Given the description of an element on the screen output the (x, y) to click on. 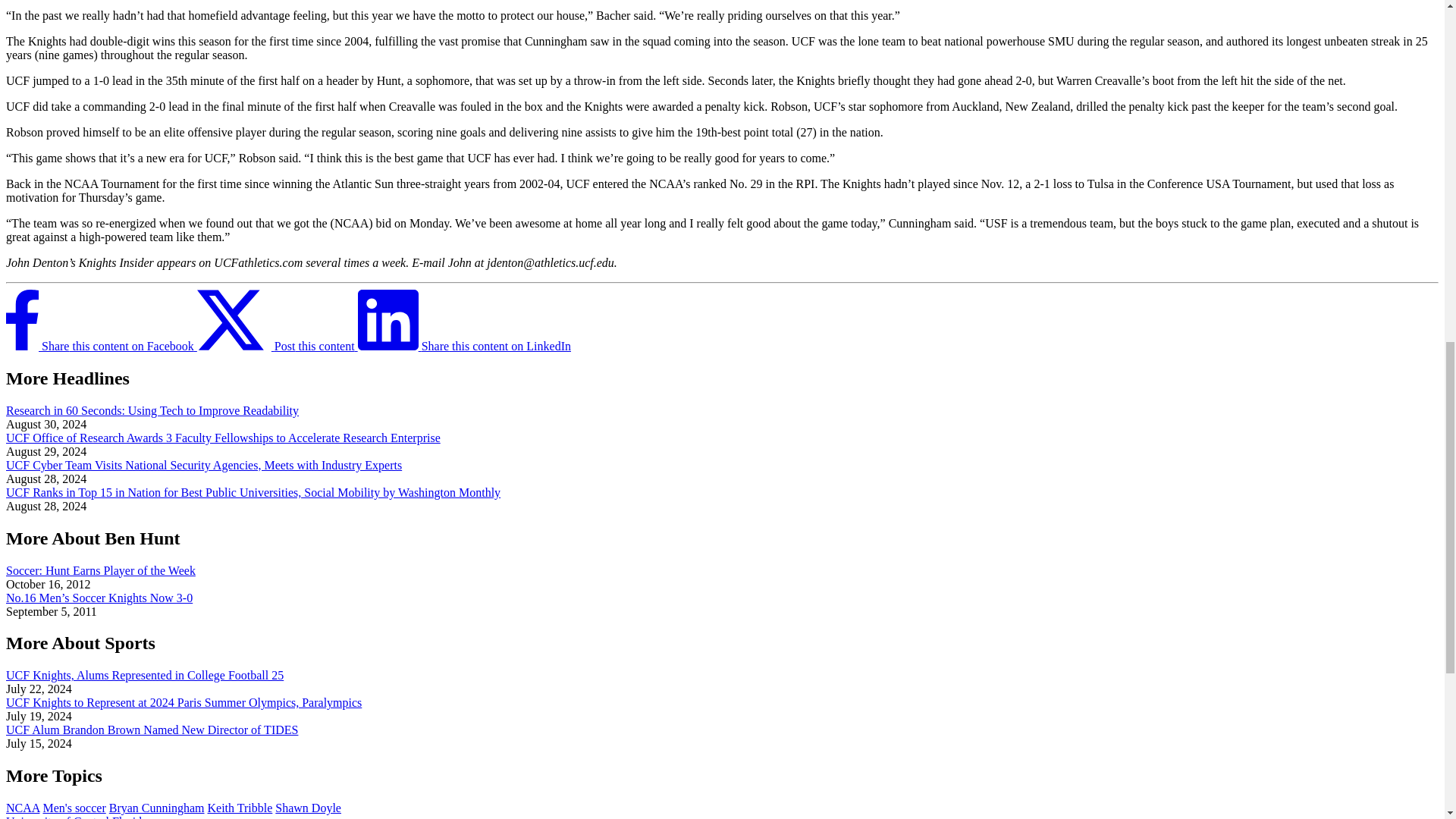
Soccer: Hunt Earns Player of the Week (100, 570)
Share this content on Facebook (100, 345)
UCF Alum Brandon Brown Named New Director of TIDES (151, 729)
UCF Knights, Alums Represented in College Football 25 (144, 675)
Research in 60 Seconds: Using Tech to Improve Readability (151, 410)
Shawn Doyle (307, 807)
Keith Tribble (240, 807)
NCAA (22, 807)
